Given the description of an element on the screen output the (x, y) to click on. 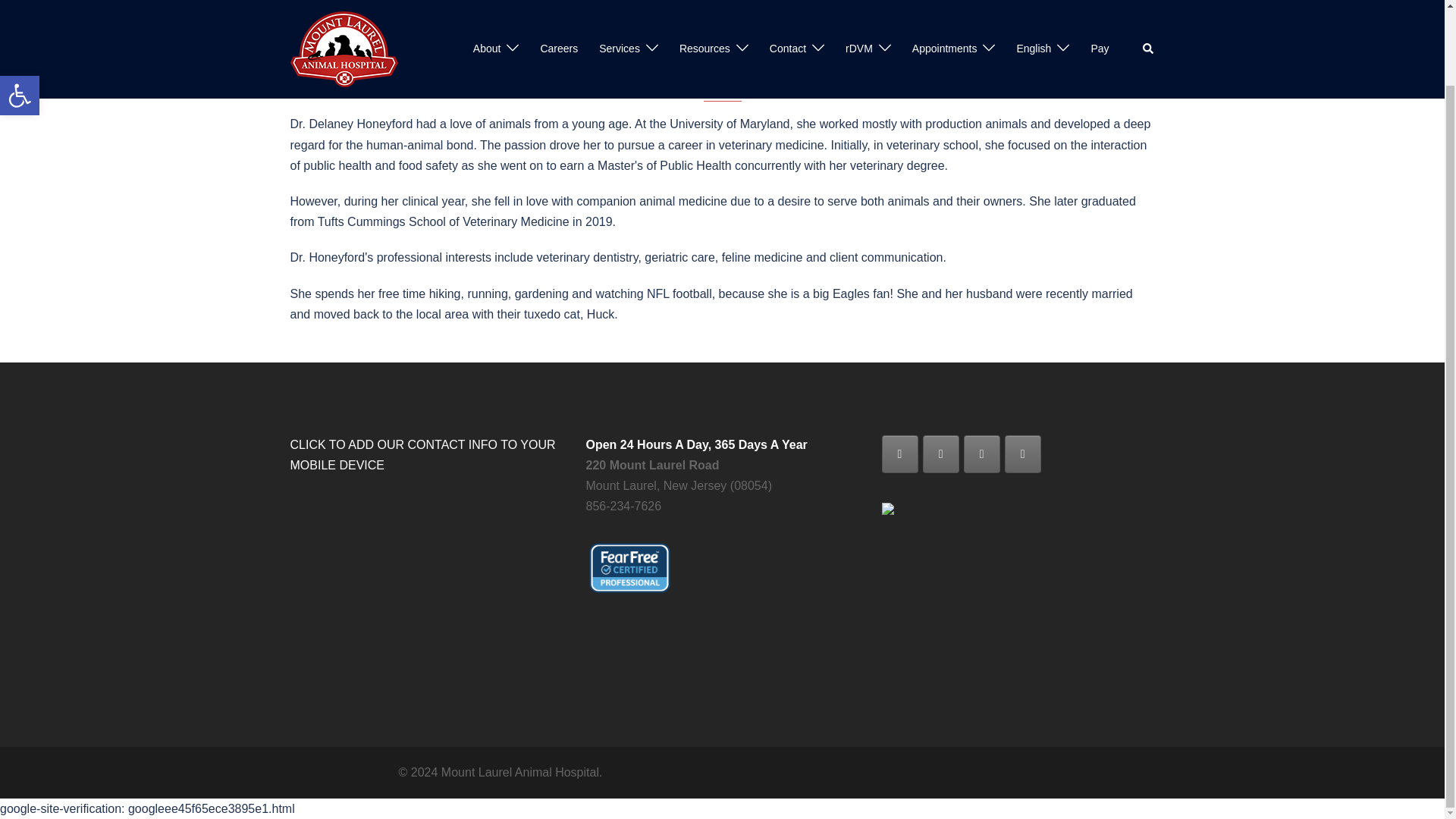
Accessibility Tools (19, 11)
